Given the description of an element on the screen output the (x, y) to click on. 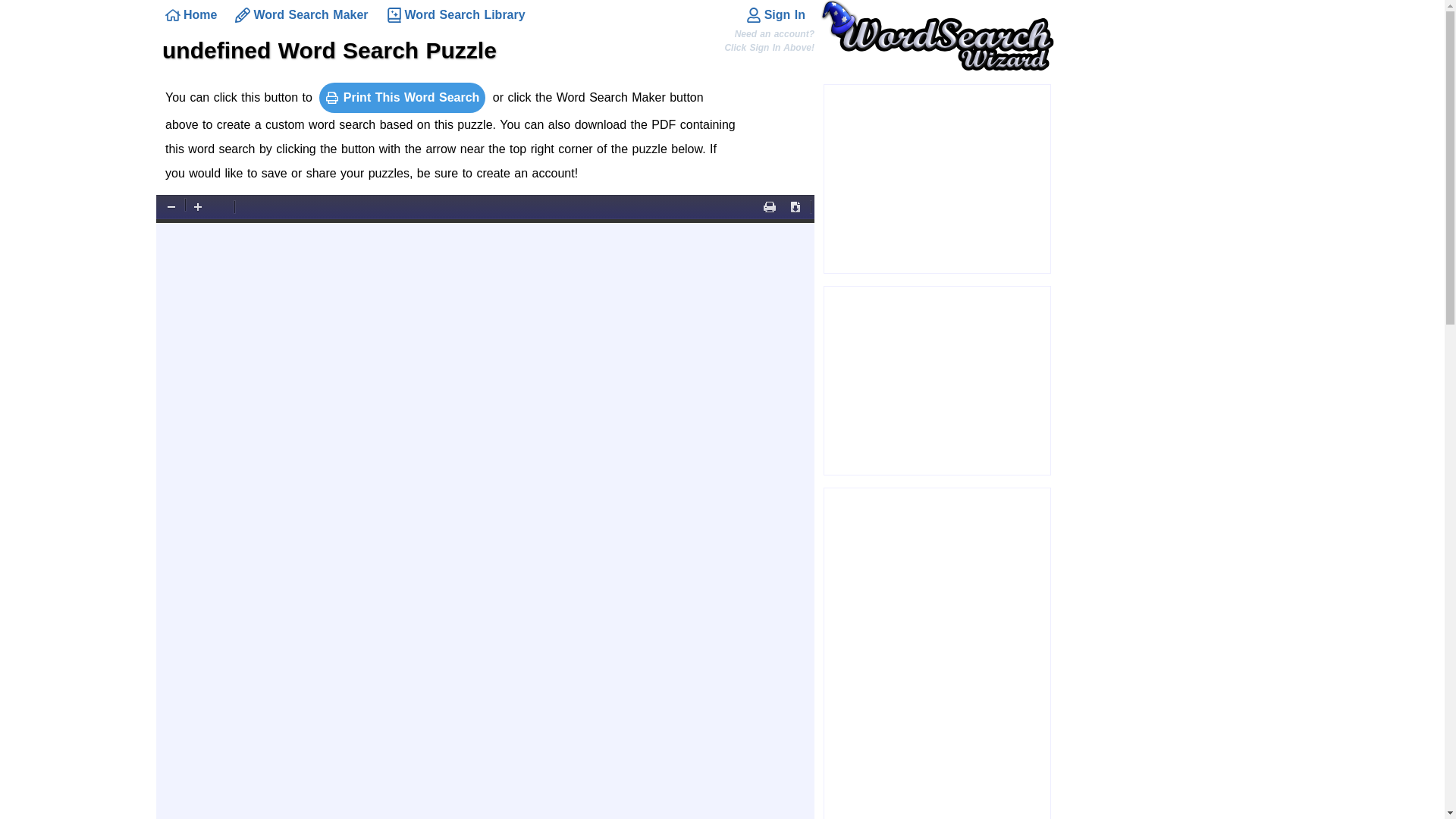
Sign In (774, 15)
Home (190, 15)
Word Search Library (455, 15)
Word Search Maker (301, 15)
Advertisement (937, 179)
Advertisement (937, 380)
Print This Word Search (401, 97)
